Given the description of an element on the screen output the (x, y) to click on. 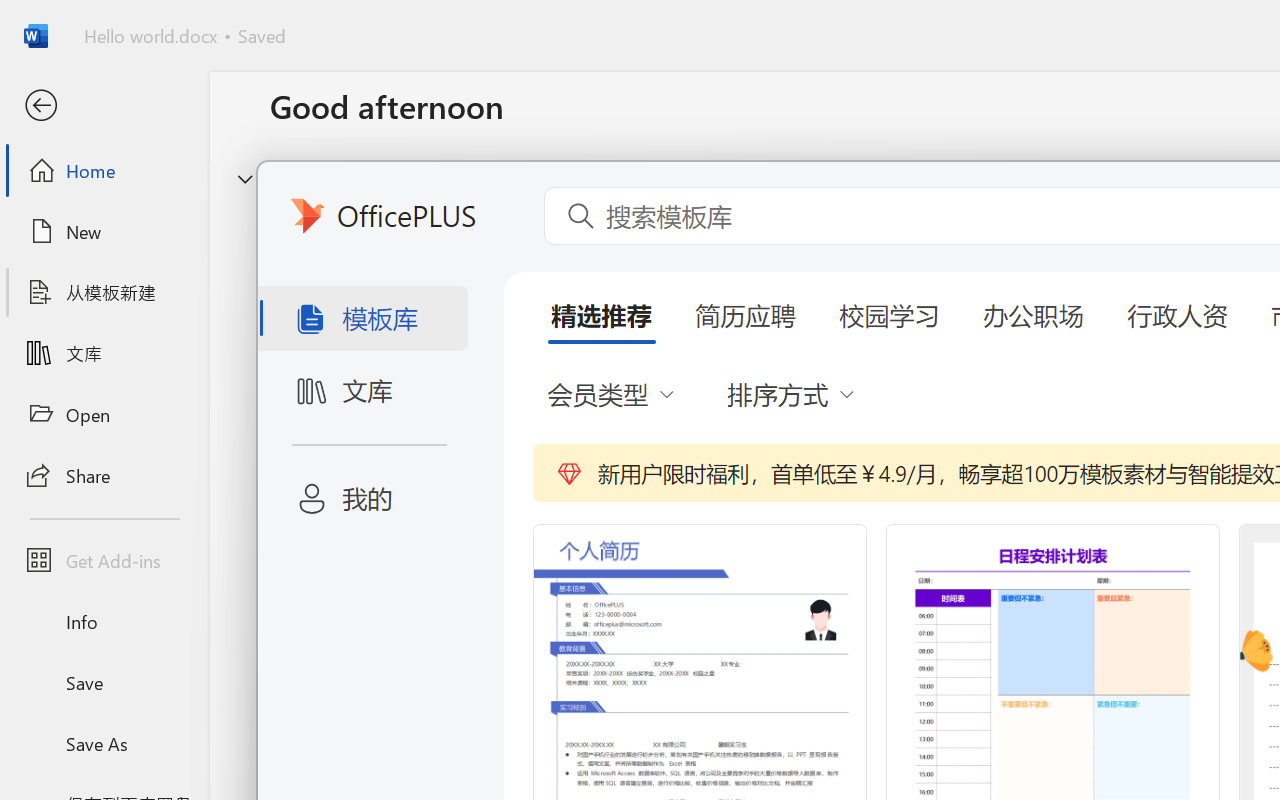
Save (104, 682)
Back (104, 106)
